Given the description of an element on the screen output the (x, y) to click on. 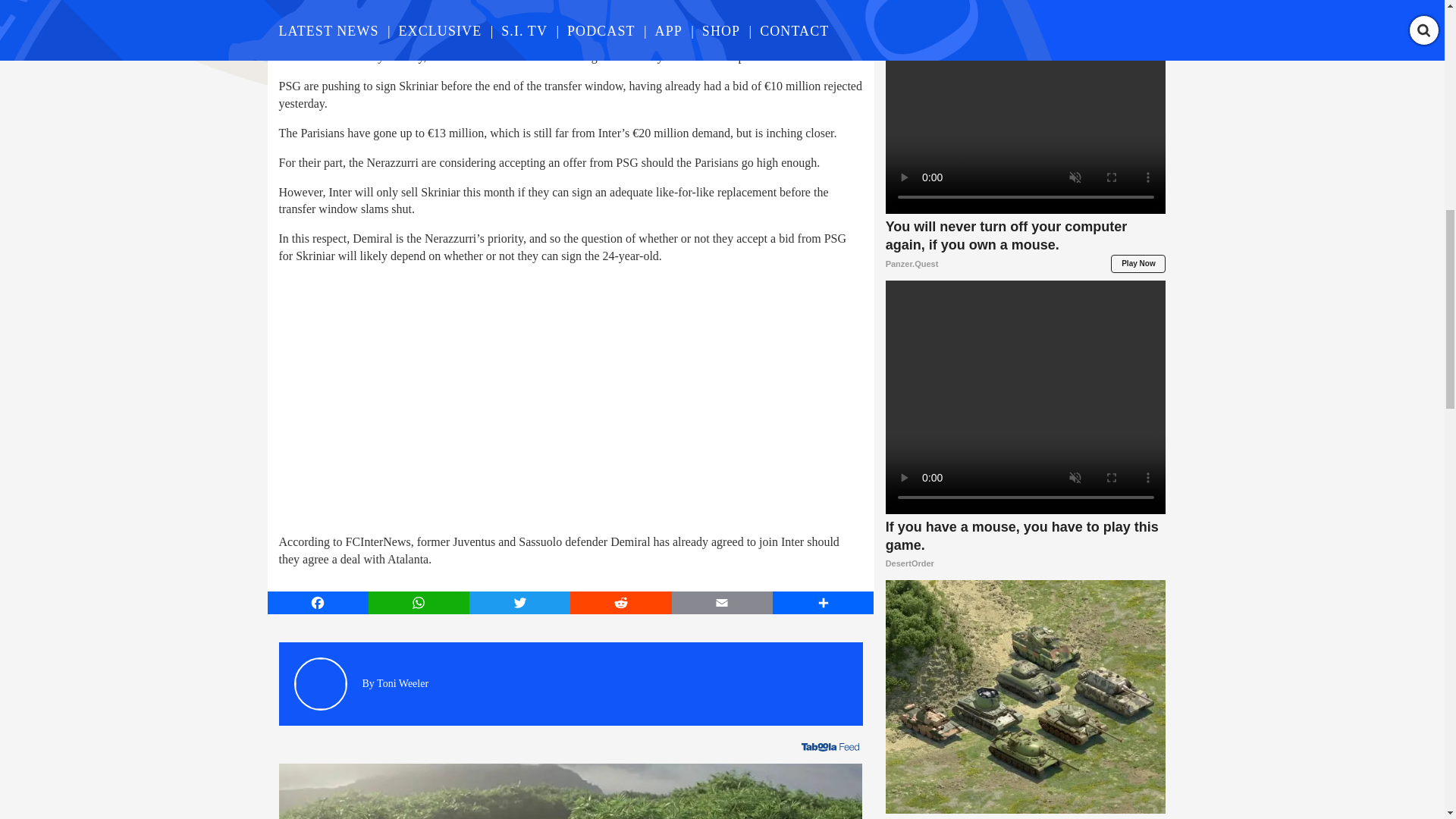
Facebook (317, 602)
View more articles by Toni Weeler (402, 683)
YouTube video player (491, 396)
Reddit (620, 602)
Twitter (519, 602)
Share (823, 602)
Facebook (317, 602)
FCInter1908 (492, 38)
WhatsApp (418, 602)
Toni Weeler (402, 683)
Email (722, 602)
WhatsApp (418, 602)
Reddit (620, 602)
Twitter (519, 602)
